Given the description of an element on the screen output the (x, y) to click on. 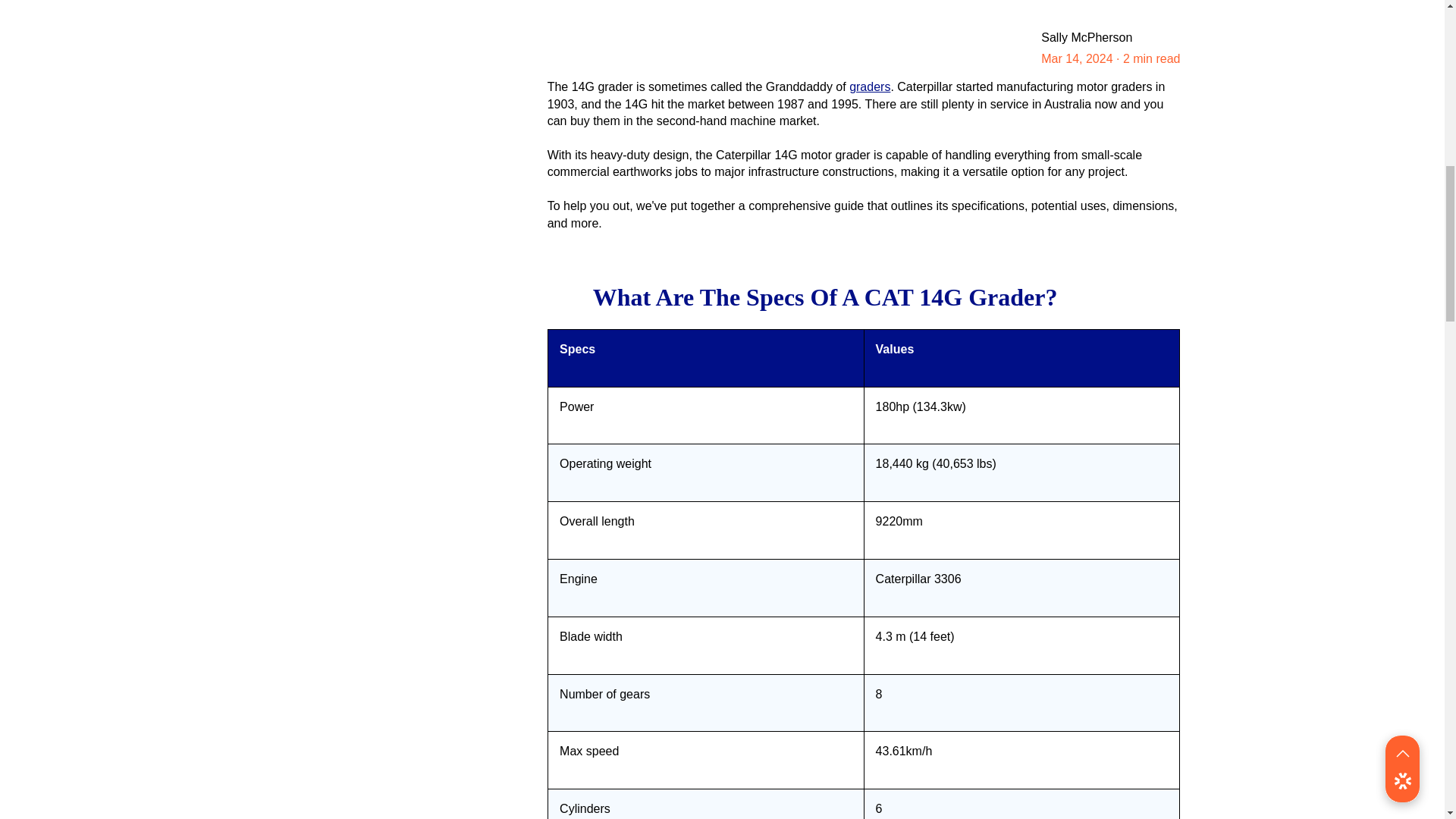
3rd party ad content (391, 329)
3rd party ad content (391, 124)
